Given the description of an element on the screen output the (x, y) to click on. 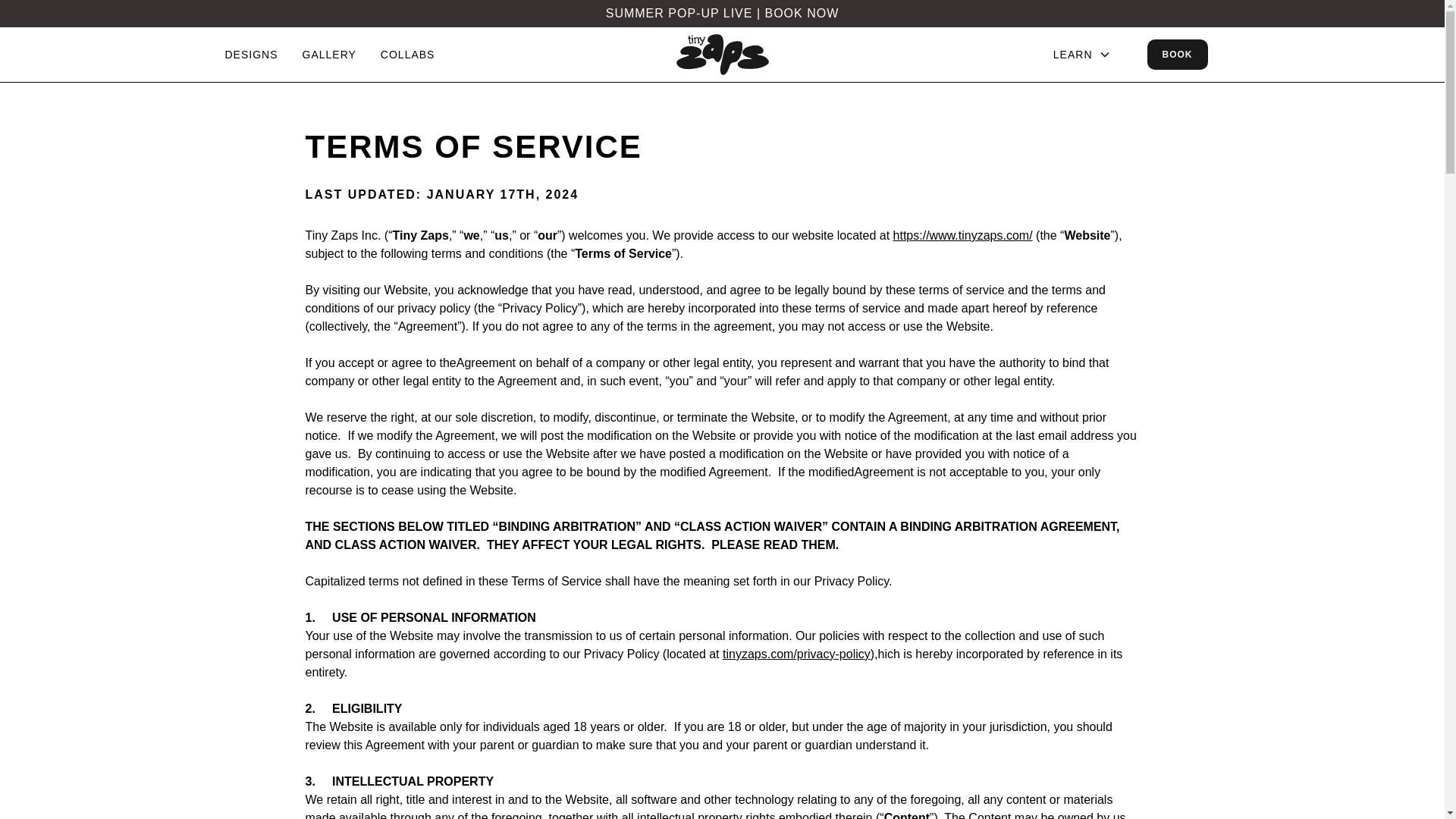
DESIGNS (251, 54)
BOOK (1177, 54)
GALLERY (329, 54)
COLLABS (407, 54)
